Given the description of an element on the screen output the (x, y) to click on. 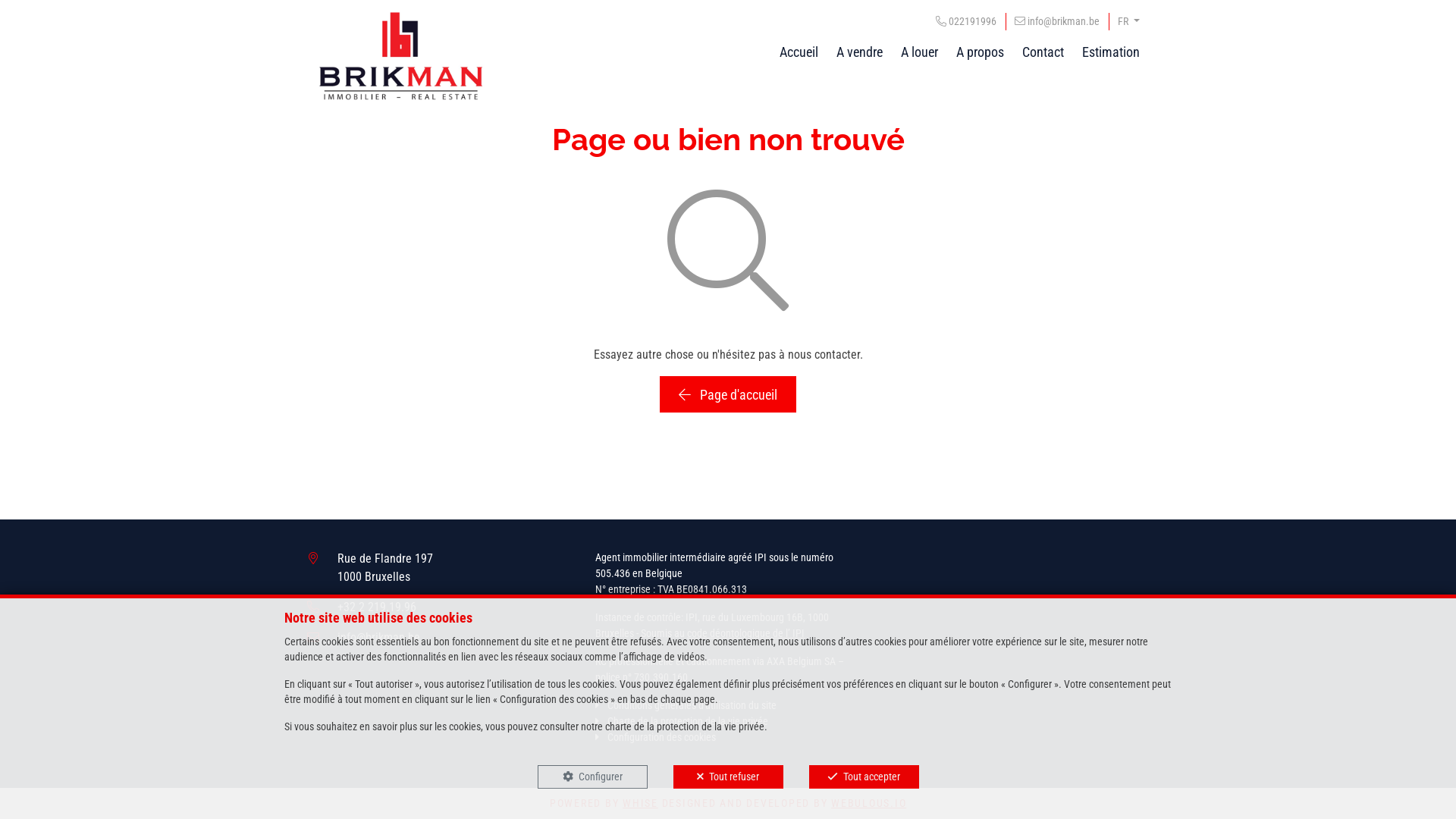
022191996 Element type: text (965, 21)
FR Element type: text (1128, 21)
+32 2 219.19.96 Element type: text (376, 606)
Page d'accueil Element type: text (727, 394)
Configurer Element type: text (591, 776)
info@brikman.be Element type: text (1056, 21)
Contact Element type: text (1043, 51)
A vendre Element type: text (859, 51)
info@brikman.be Element type: text (378, 637)
Tout accepter Element type: text (863, 776)
POWERED BY WHISE Element type: text (603, 803)
Configuration des cookies Element type: text (655, 737)
A louer Element type: text (919, 51)
A propos Element type: text (980, 51)
Accueil Element type: text (798, 51)
Estimation Element type: text (1110, 51)
DESIGNED AND DEVELOPED BY WEBULOUS.IO Element type: text (783, 803)
Tout refuser Element type: text (728, 776)
